Given the description of an element on the screen output the (x, y) to click on. 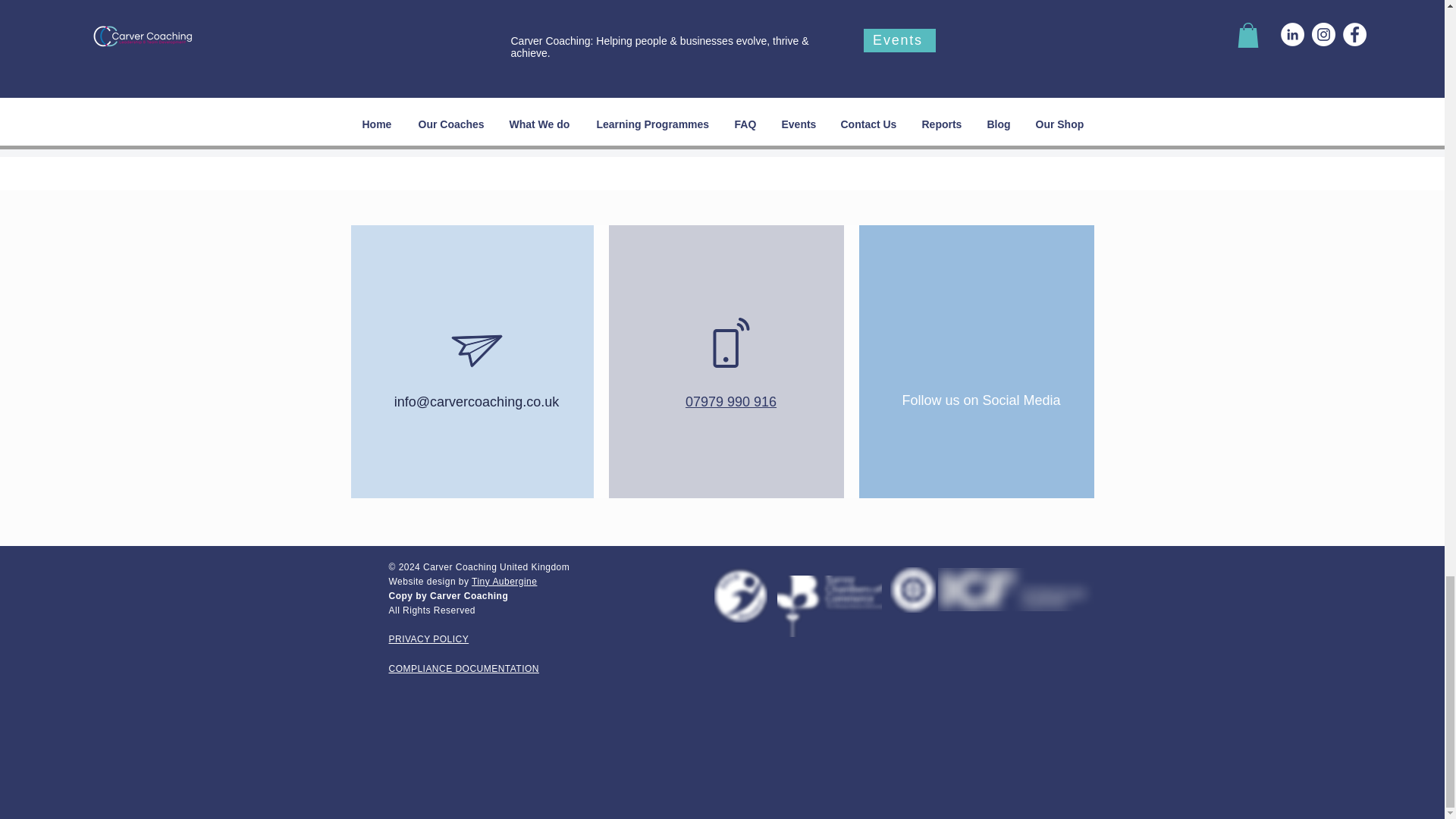
07979 990 916 (730, 400)
PRIVACY POLICY (428, 638)
COMPLIANCE DOCUMENTATION (463, 668)
Tiny Aubergine (504, 581)
